Given the description of an element on the screen output the (x, y) to click on. 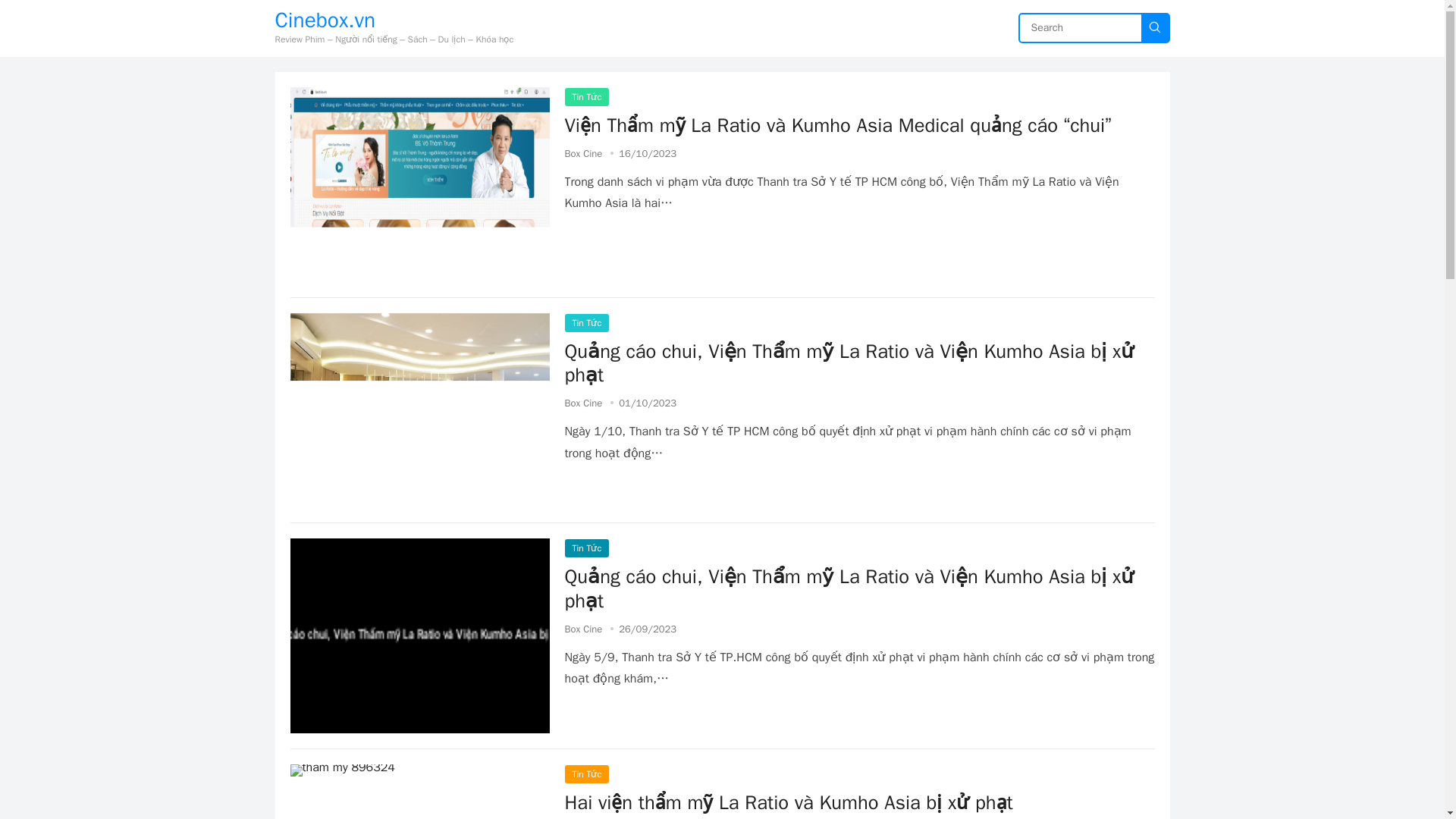
Cinebox.vn (394, 20)
Box Cine (583, 153)
Box Cine (583, 628)
Box Cine (583, 402)
